Given the description of an element on the screen output the (x, y) to click on. 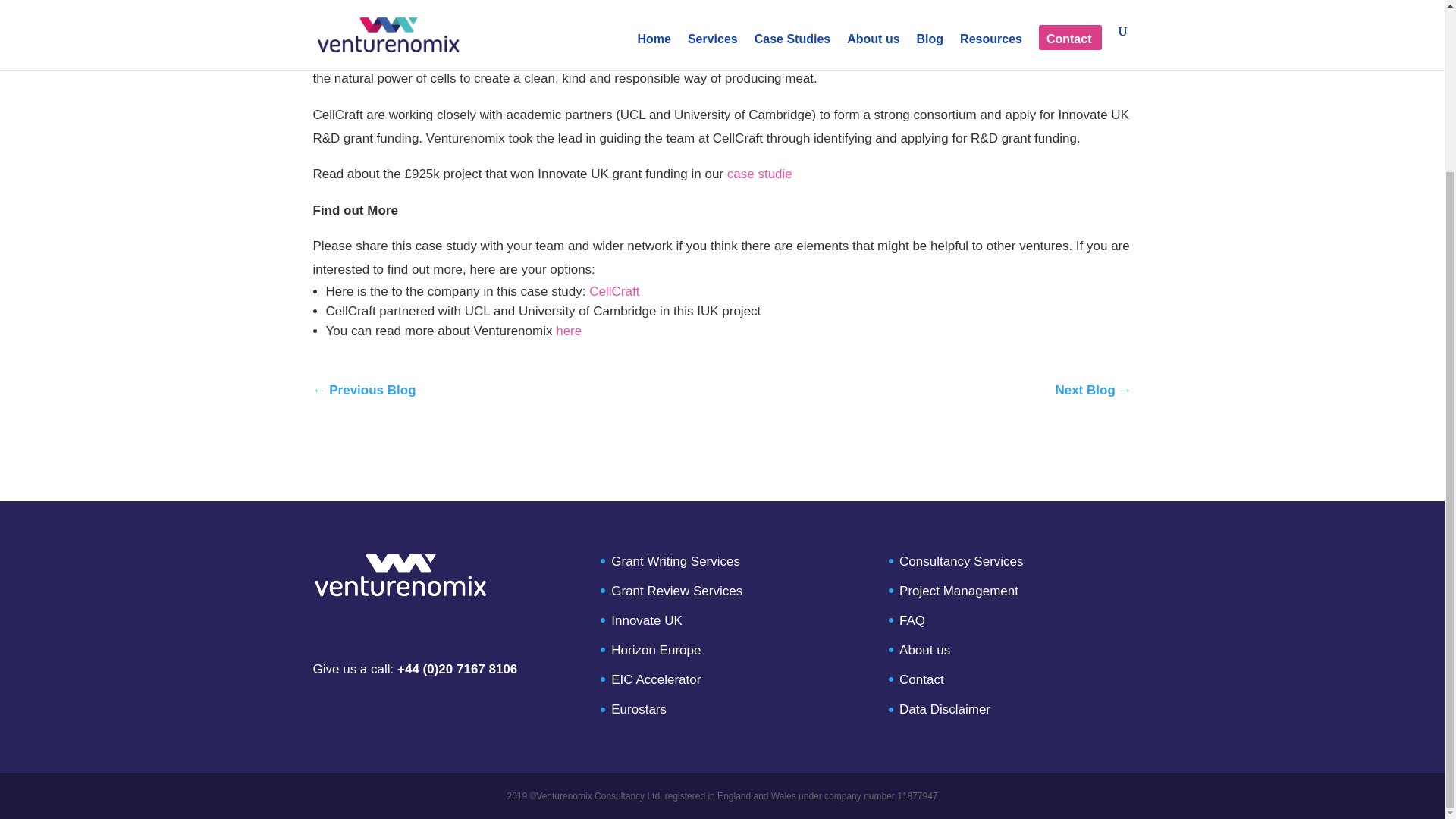
Data Disclaimer (944, 708)
Contact (921, 679)
Innovate UK (646, 620)
Grant Writing Services (675, 561)
EIC Accelerator (655, 679)
Eurostars (638, 708)
Horizon Europe (655, 649)
About us (924, 649)
Consultancy Services (961, 561)
Project Management (958, 590)
